Given the description of an element on the screen output the (x, y) to click on. 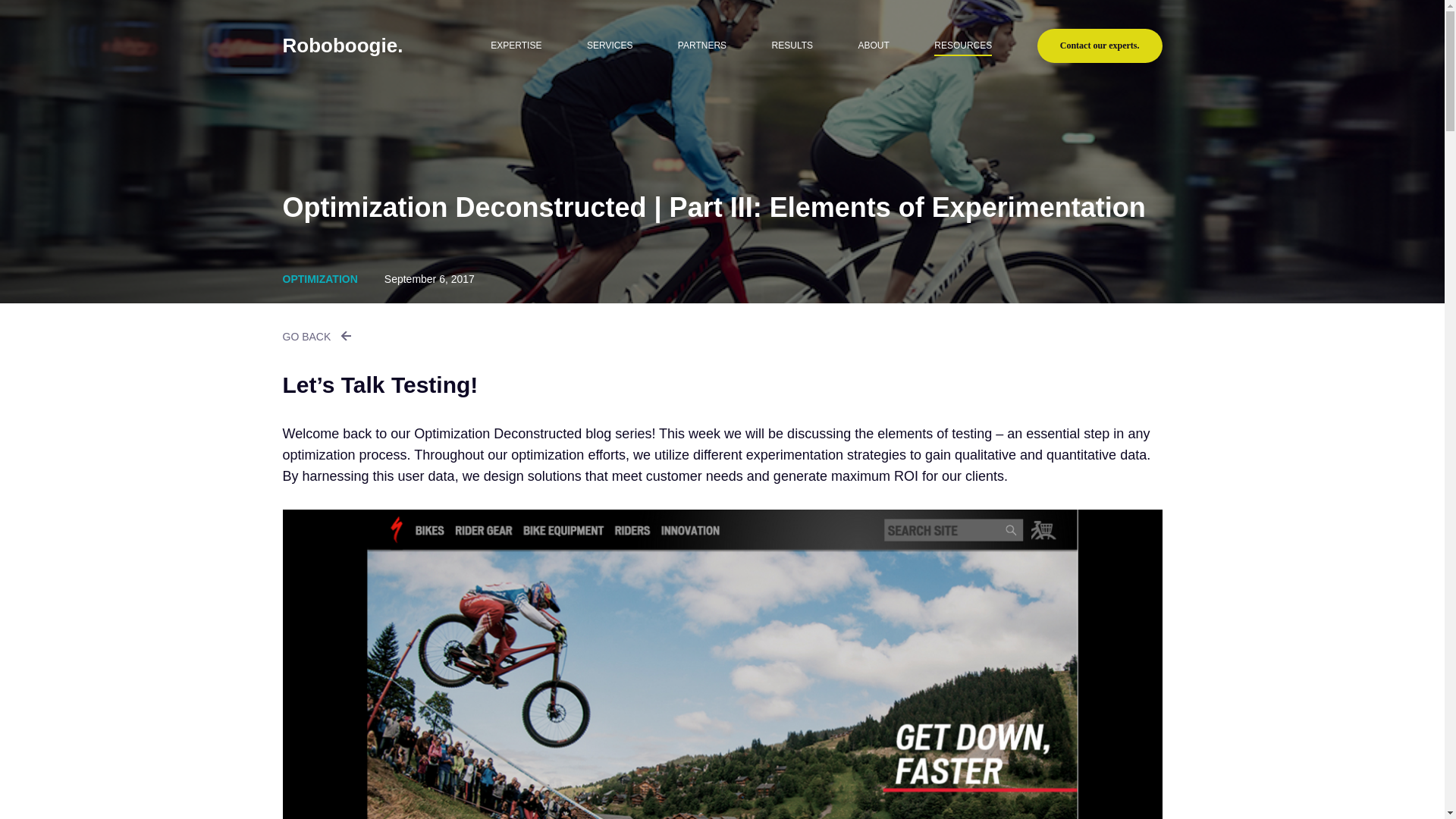
RESOURCES (962, 45)
EXPERTISE (515, 45)
OPTIMIZATION (319, 278)
Roboboogie. (365, 45)
ABOUT (872, 45)
RESULTS (791, 45)
PARTNERS (702, 45)
Contact our experts. (1098, 45)
GO BACK (316, 335)
SERVICES (608, 45)
